Given the description of an element on the screen output the (x, y) to click on. 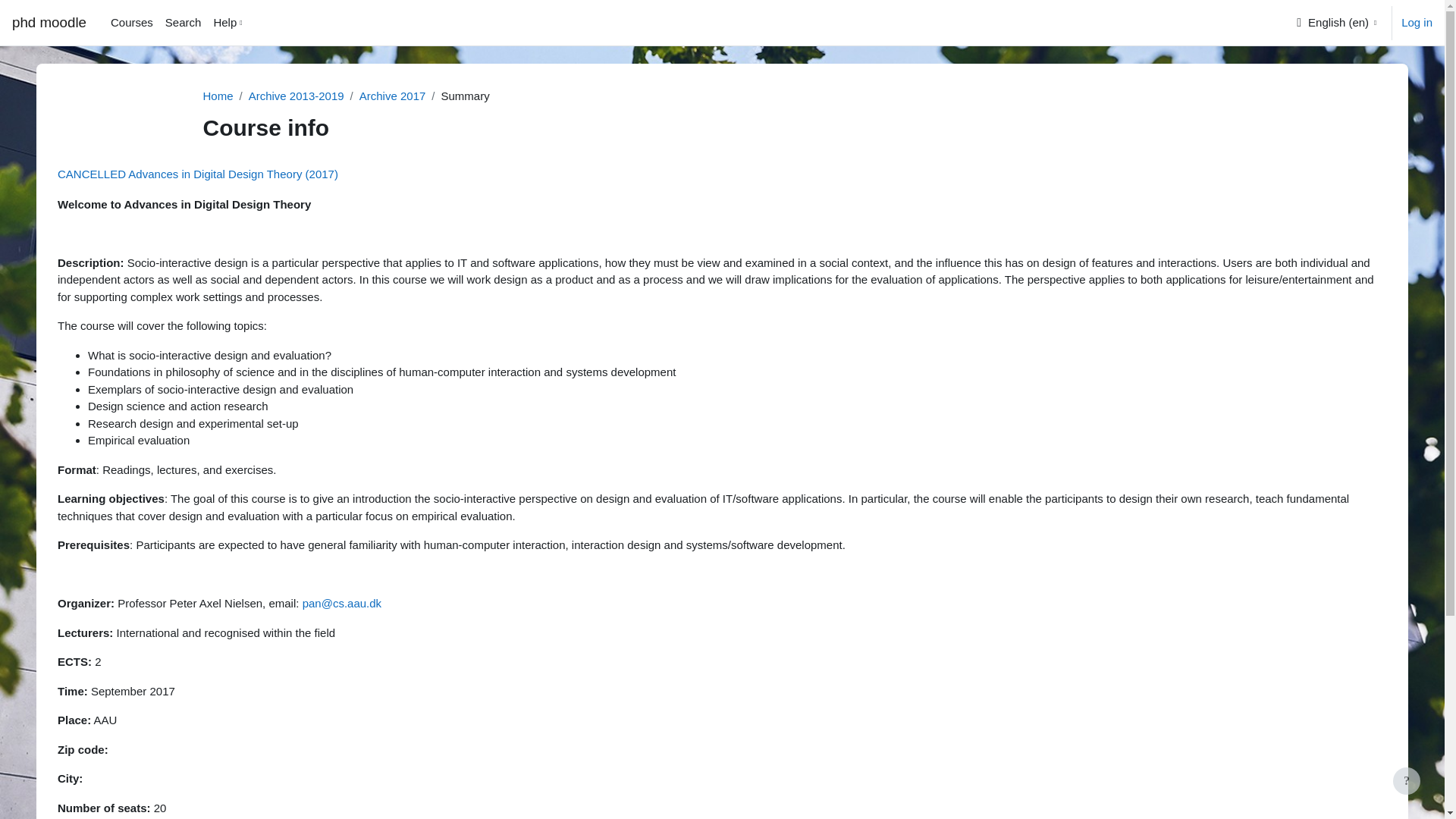
Home (217, 95)
Archive 2013-2019 (295, 95)
Log in (1416, 22)
Search (183, 22)
Archive 2017 (392, 95)
Courses (131, 22)
Help (228, 22)
phd moodle (48, 22)
